Given the description of an element on the screen output the (x, y) to click on. 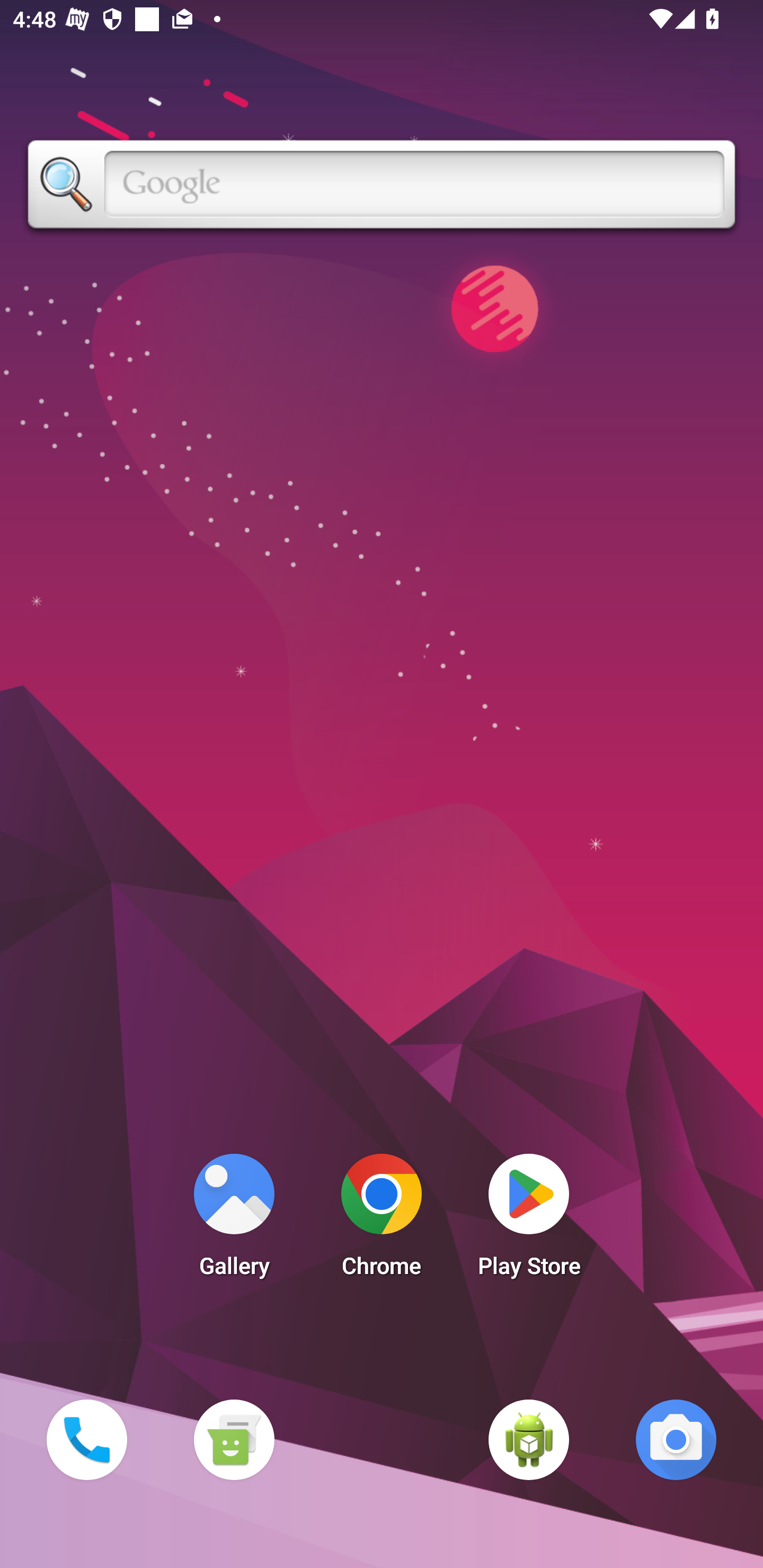
Gallery (233, 1220)
Chrome (381, 1220)
Play Store (528, 1220)
Phone (86, 1439)
Messaging (233, 1439)
WebView Browser Tester (528, 1439)
Camera (676, 1439)
